Given the description of an element on the screen output the (x, y) to click on. 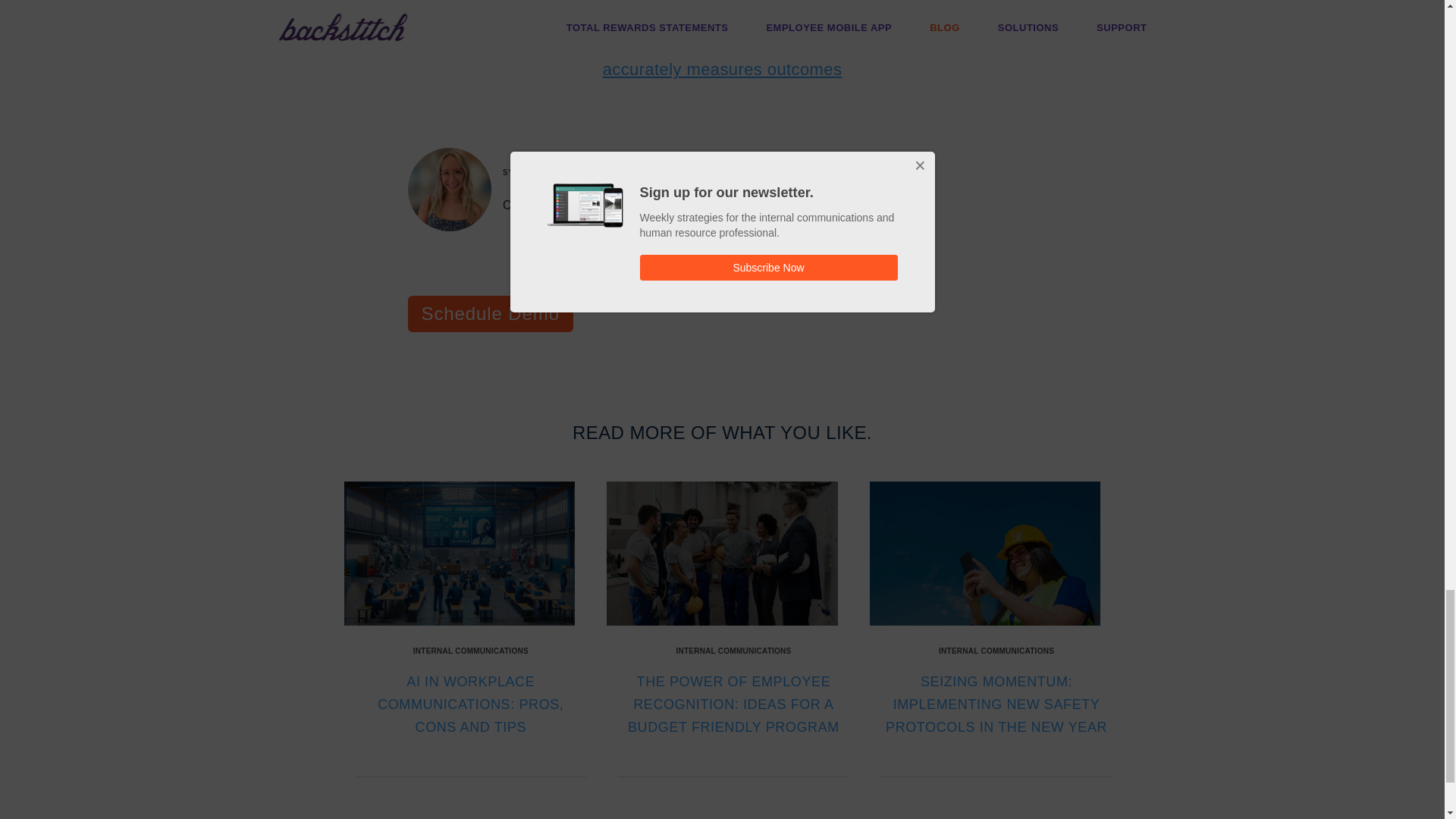
Schedule Demo (490, 313)
